Given the description of an element on the screen output the (x, y) to click on. 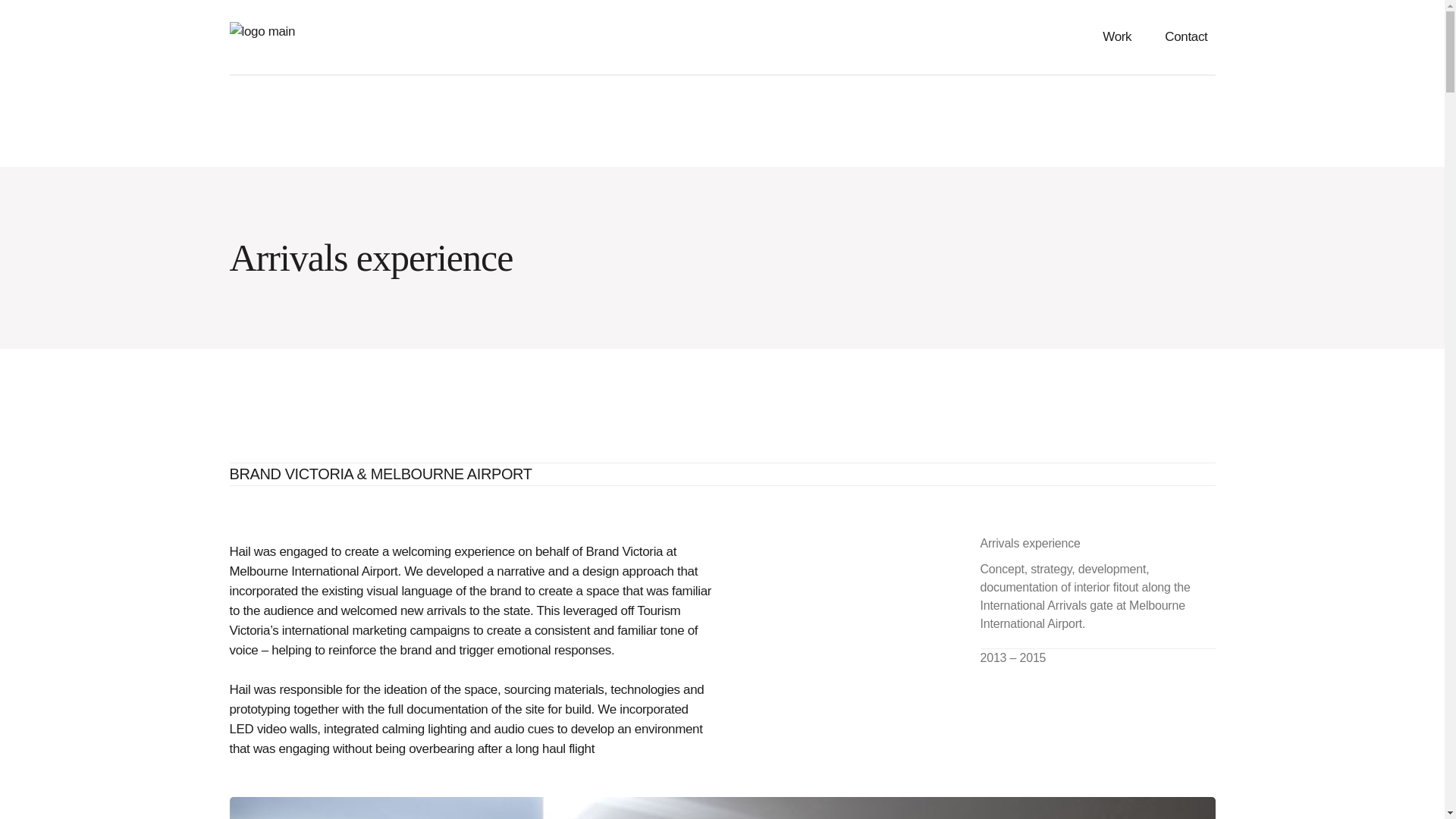
Contact (1185, 37)
Work (1116, 37)
